Given the description of an element on the screen output the (x, y) to click on. 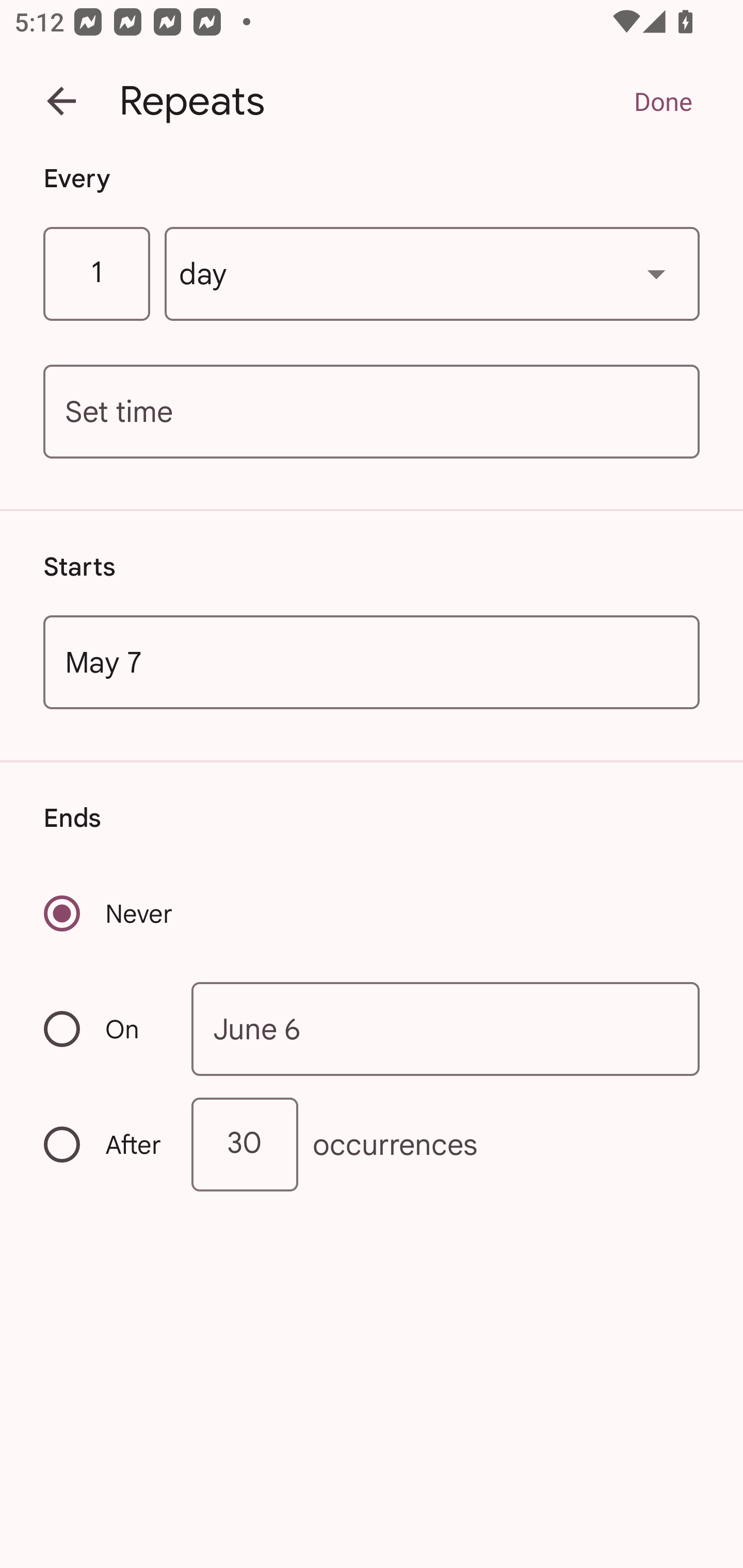
Back (61, 101)
Done (663, 101)
1 (96, 274)
day (431, 274)
Show dropdown menu (655, 273)
Set time (371, 411)
May 7 (371, 661)
Never Recurrence never ends (109, 913)
June 6 (445, 1028)
On Recurrence ends on a specific date (104, 1029)
30 (244, 1144)
